Given the description of an element on the screen output the (x, y) to click on. 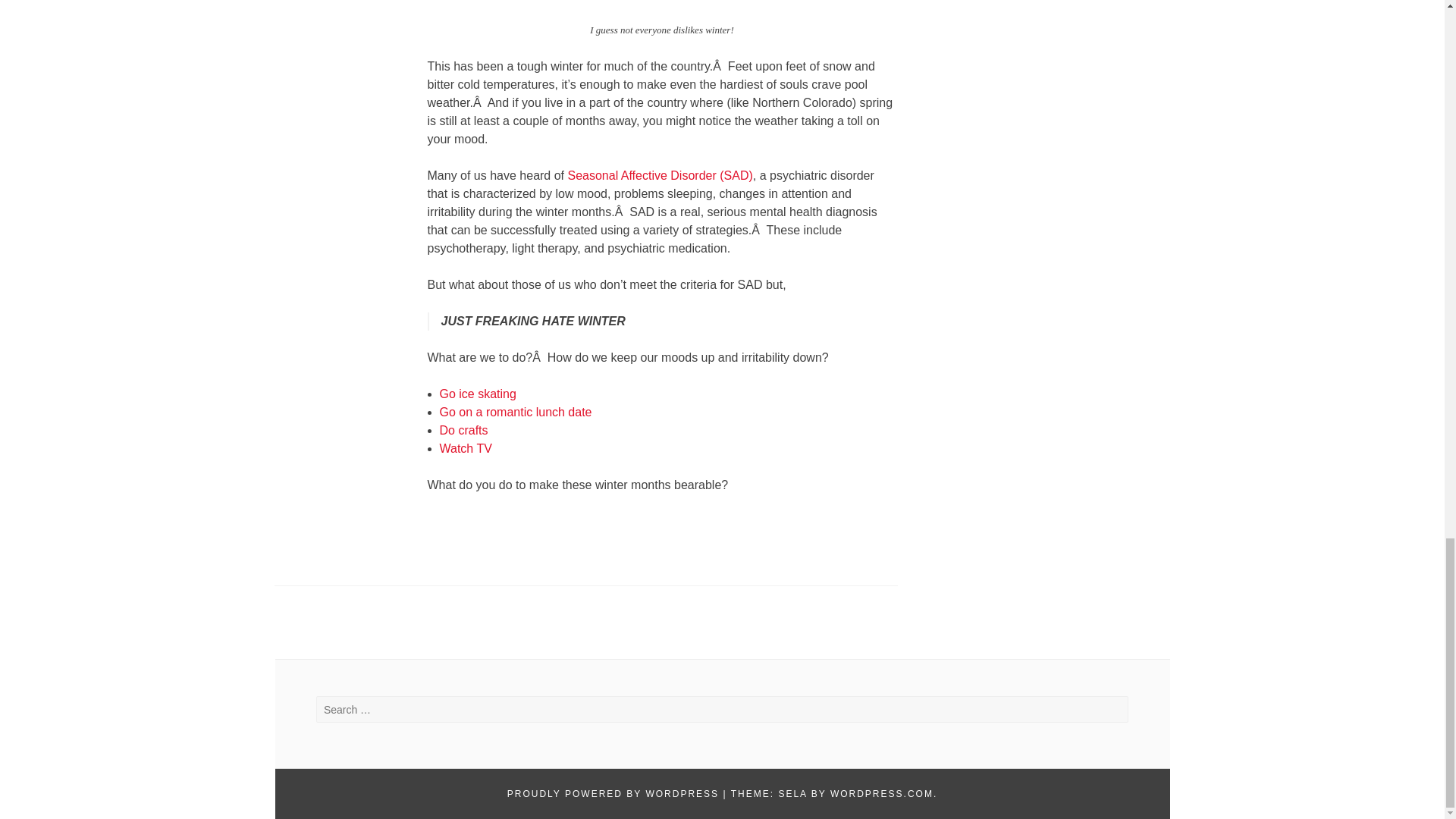
Go on a romantic lunch date (515, 411)
Watch TV (465, 448)
WORDPRESS.COM (881, 793)
Do crafts (463, 430)
PROUDLY POWERED BY WORDPRESS (612, 793)
A Semantic Personal Publishing Platform (612, 793)
Go ice skating (477, 393)
